Given the description of an element on the screen output the (x, y) to click on. 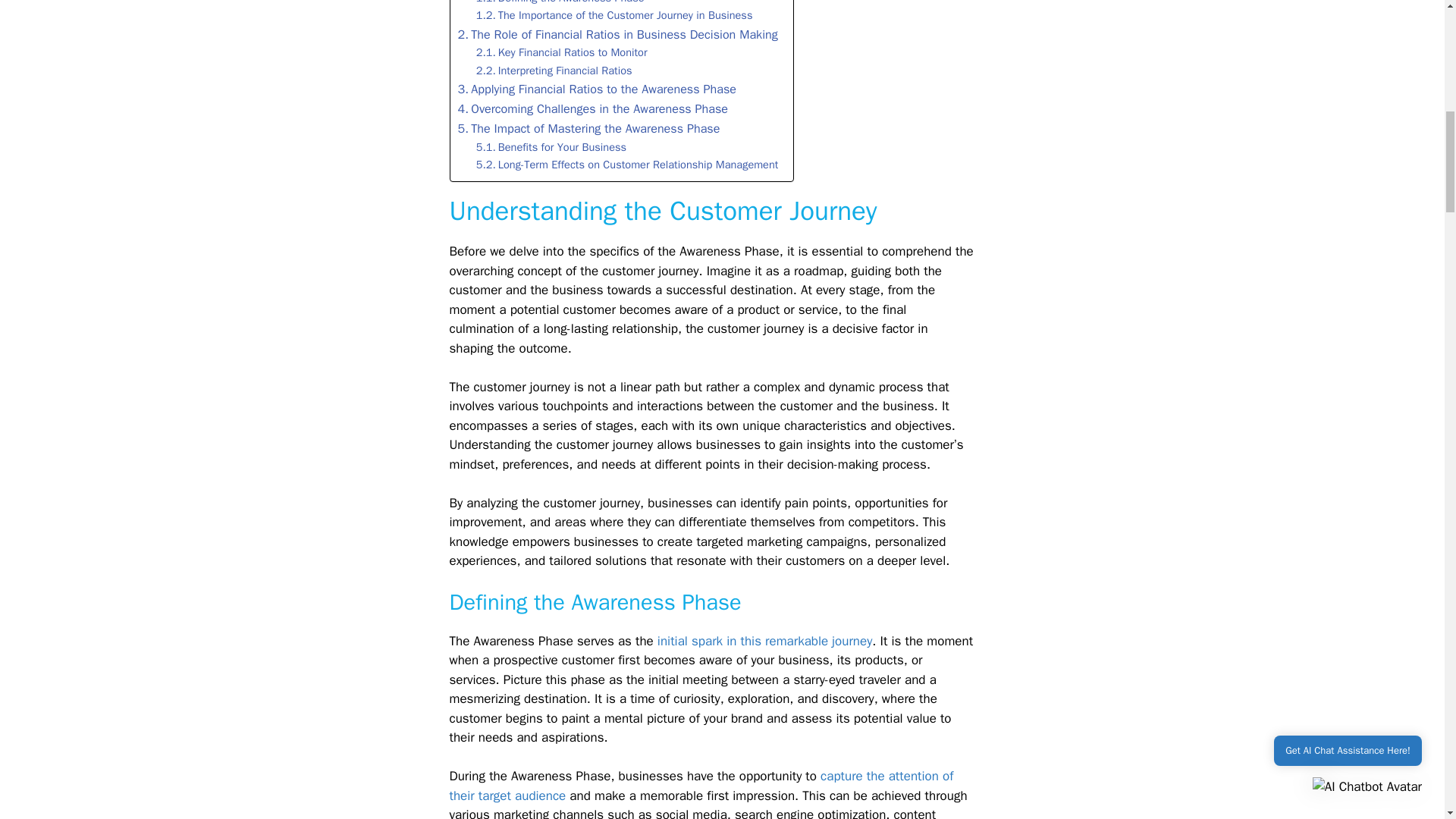
Applying Financial Ratios to the Awareness Phase (597, 89)
Key Financial Ratios to Monitor (561, 52)
Long-Term Effects on Customer Relationship Management (627, 164)
Overcoming Challenges in the Awareness Phase (593, 108)
Interpreting Financial Ratios (553, 70)
The Role of Financial Ratios in Business Decision Making (617, 35)
Interpreting Financial Ratios (553, 70)
Long-Term Effects on Customer Relationship Management (627, 164)
The Importance of the Customer Journey in Business (614, 15)
Key Financial Ratios to Monitor (561, 52)
